Given the description of an element on the screen output the (x, y) to click on. 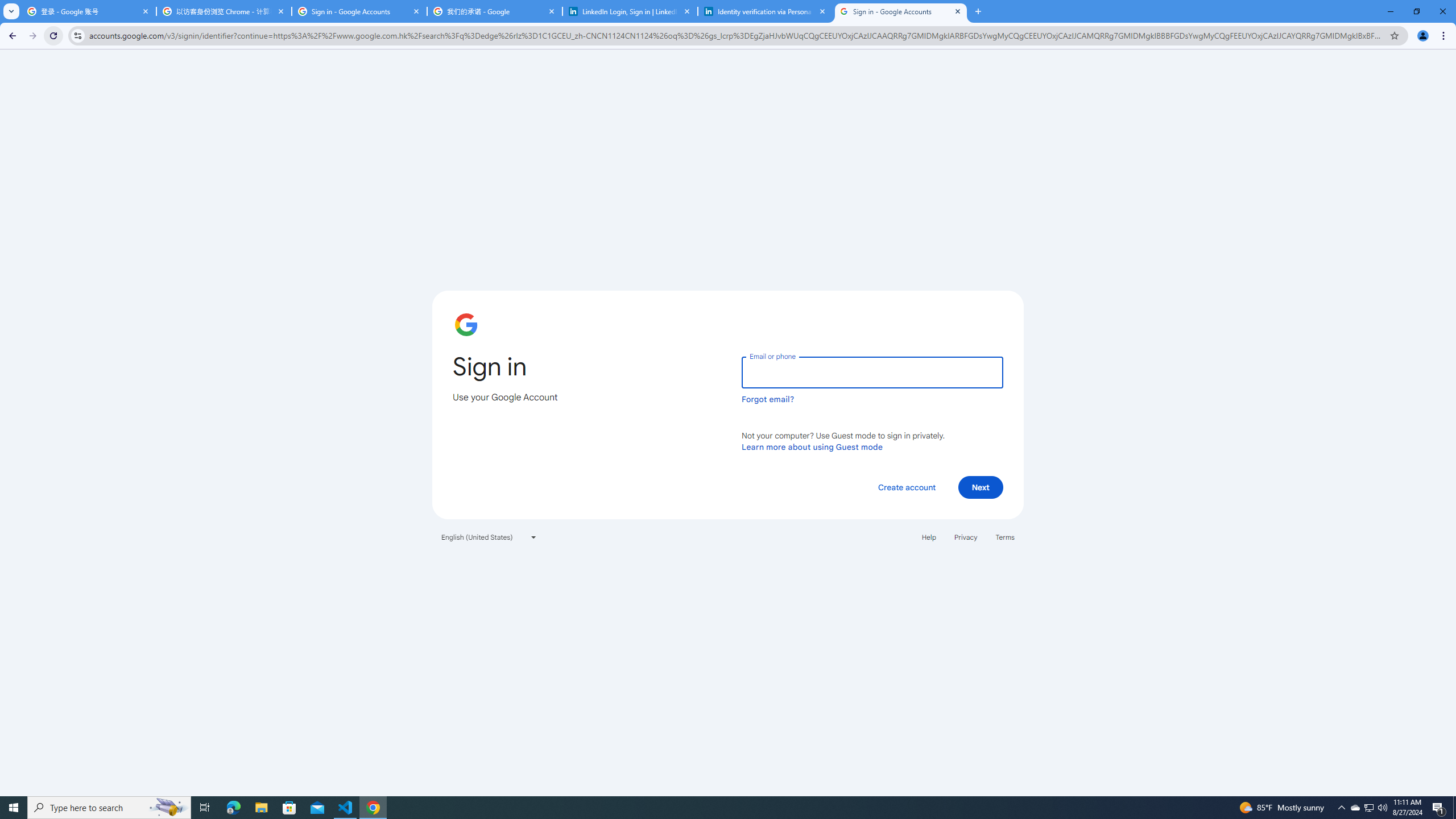
LinkedIn Login, Sign in | LinkedIn (630, 11)
Forgot email? (767, 398)
Learn more about using Guest mode (812, 446)
Email or phone (871, 372)
